Given the description of an element on the screen output the (x, y) to click on. 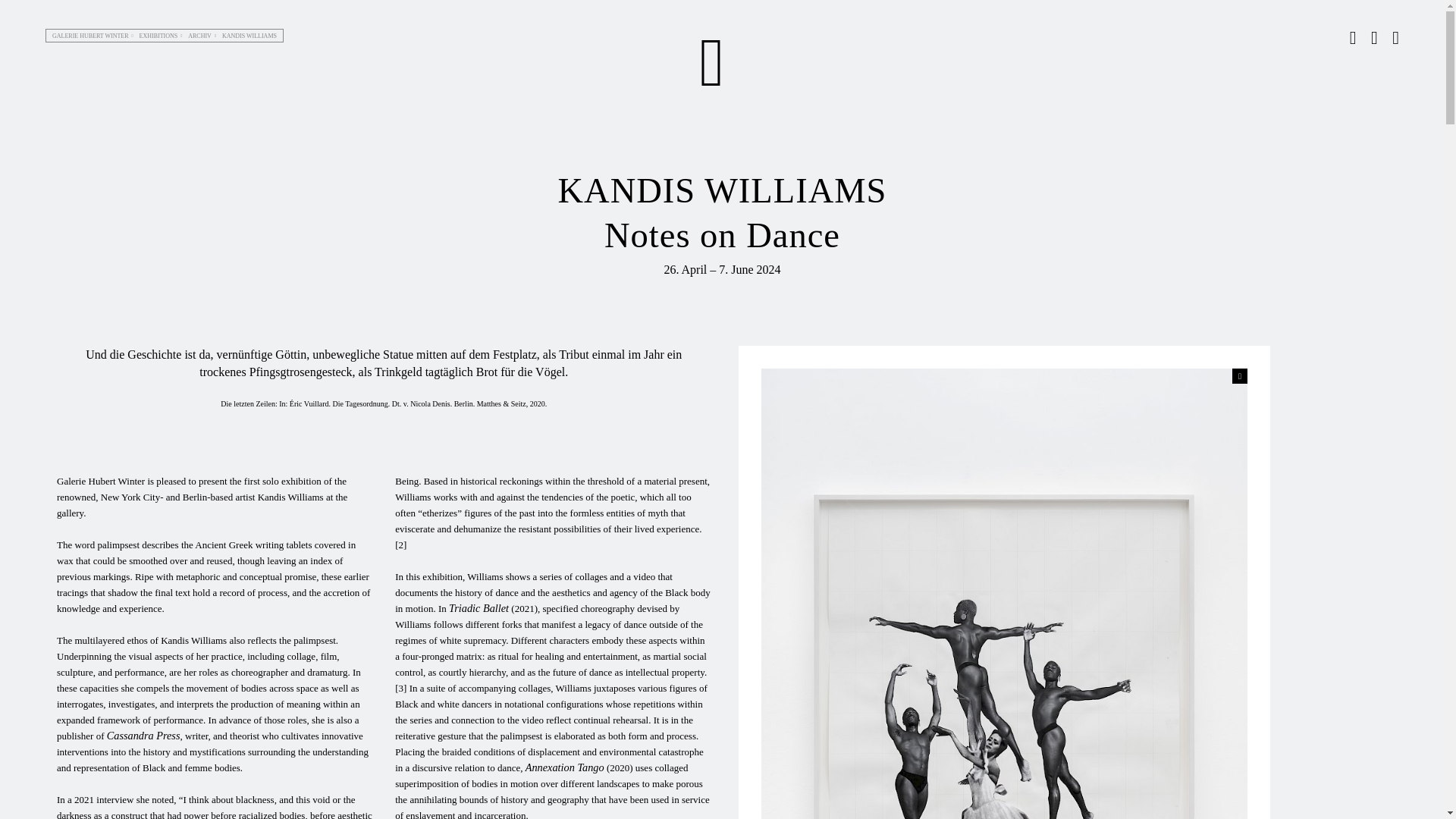
ARCHIV (199, 34)
KANDIS WILLIAMS (249, 34)
GALERIE HUBERT WINTER (90, 34)
Cassandra Press (143, 736)
EXHIBITIONS (158, 34)
